Given the description of an element on the screen output the (x, y) to click on. 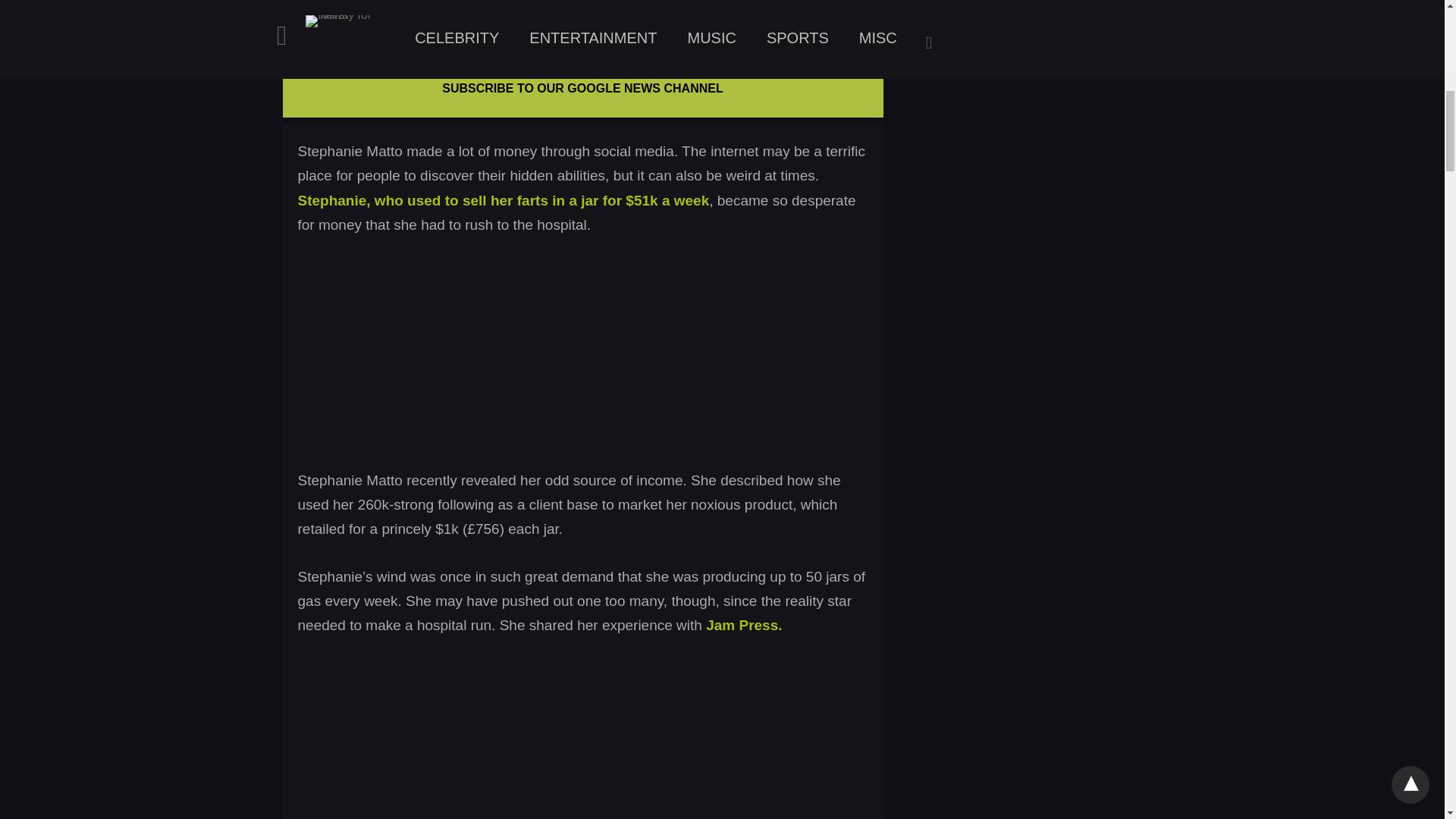
SUBSCRIBE TO OUR GOOGLE NEWS CHANNEL (582, 88)
Jam Press. (743, 625)
